Given the description of an element on the screen output the (x, y) to click on. 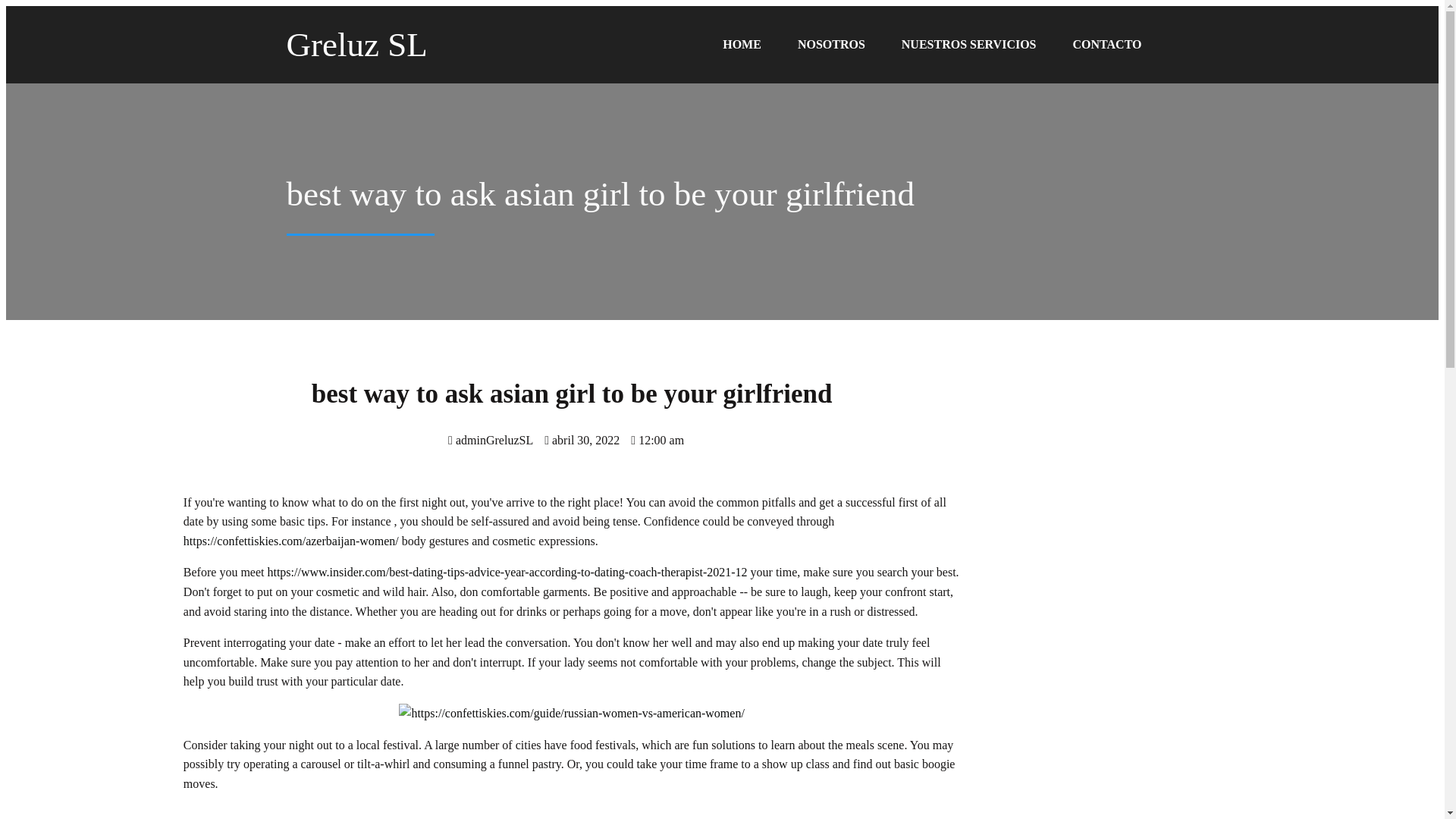
adminGreluzSL (490, 440)
NOSOTROS (831, 44)
12:00 am (657, 440)
Greluz SL (411, 44)
CONTACTO (1107, 44)
NUESTROS SERVICIOS (968, 44)
HOME (741, 44)
abril 30, 2022 (582, 440)
